Given the description of an element on the screen output the (x, y) to click on. 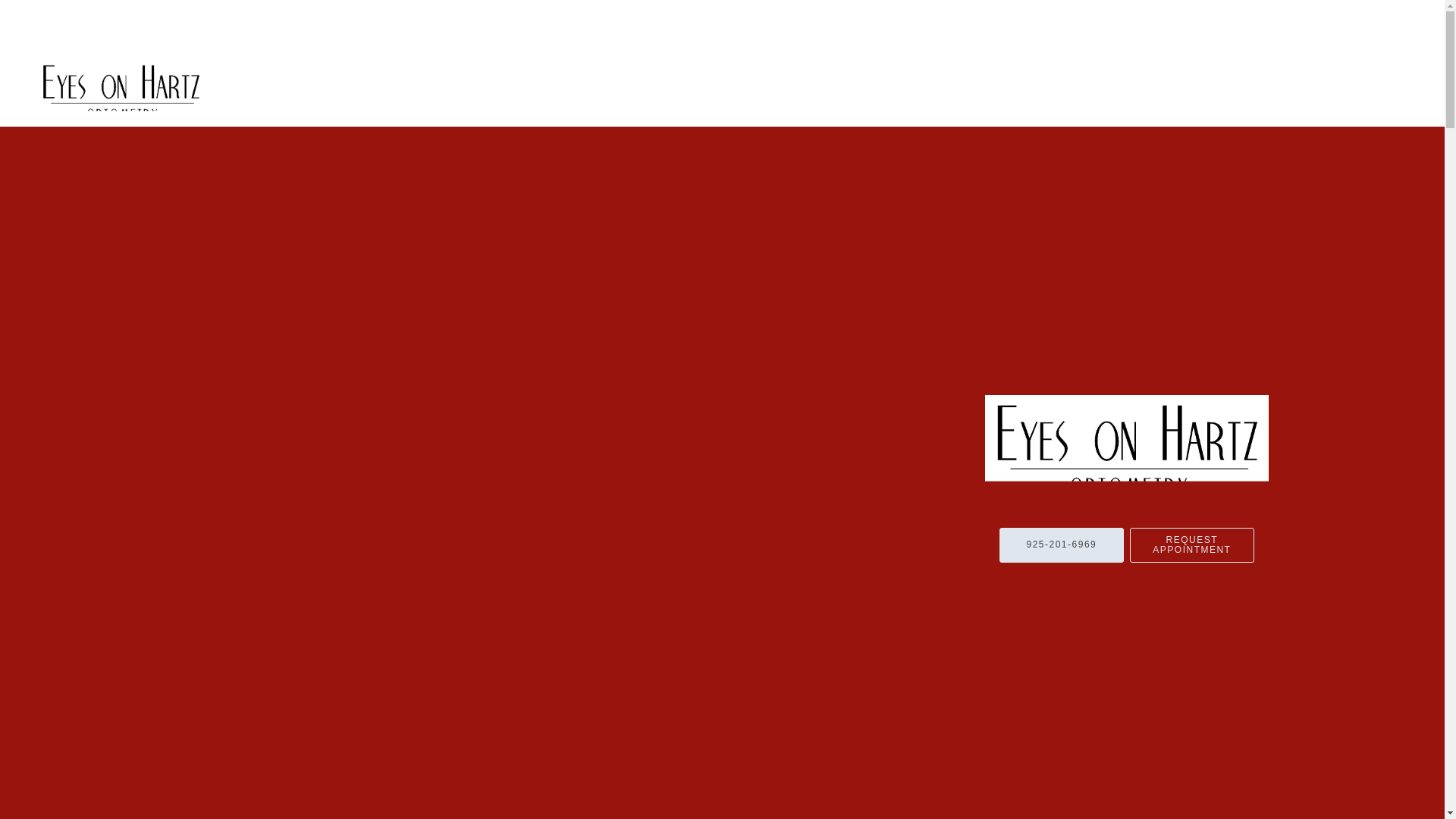
REQUEST APPOINTMENT (1191, 544)
Skip to main content (74, 66)
925-201-6969 (1061, 544)
